Given the description of an element on the screen output the (x, y) to click on. 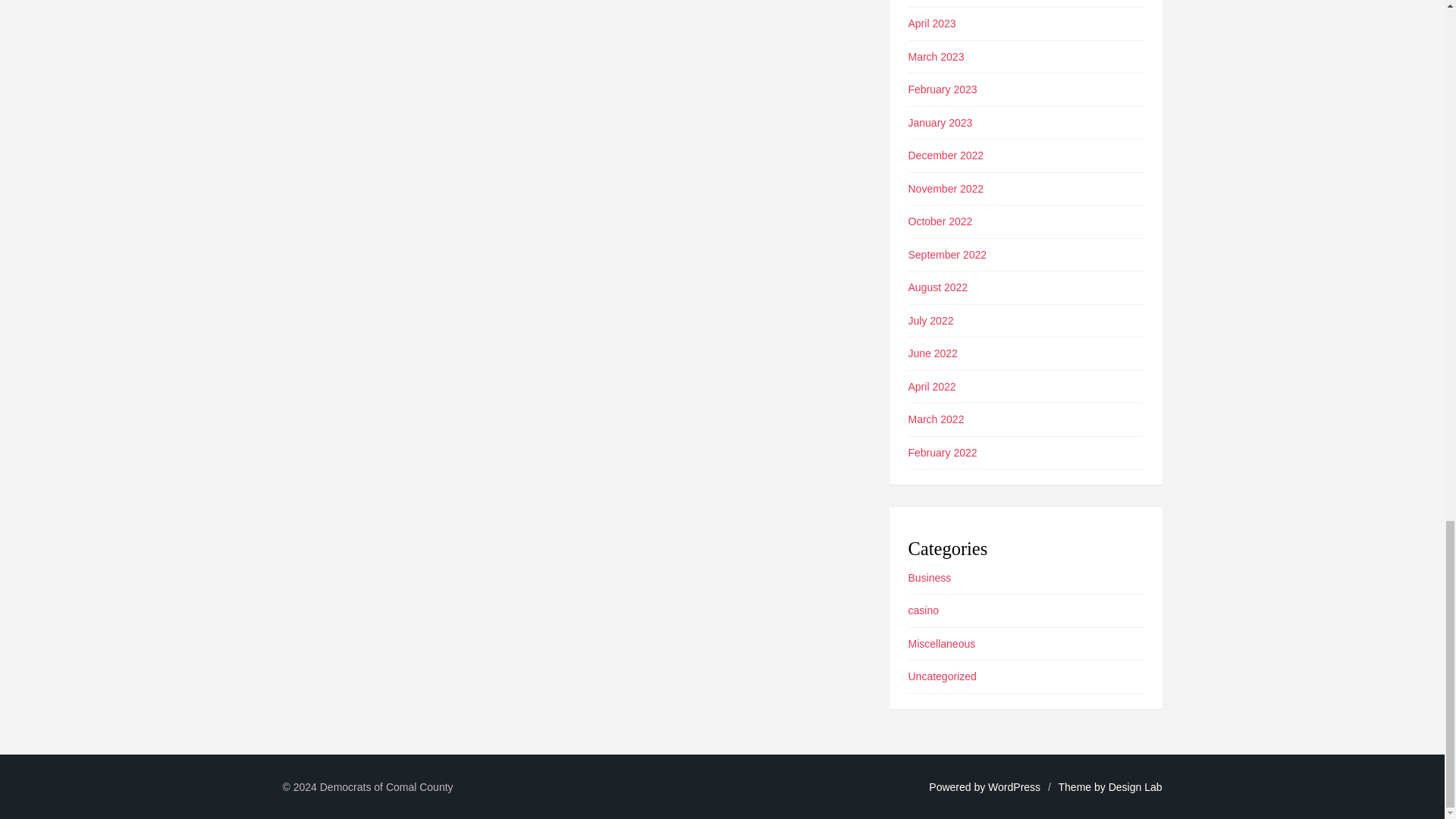
February 2023 (942, 89)
March 2023 (935, 56)
January 2023 (940, 122)
April 2023 (932, 23)
December 2022 (946, 155)
